Given the description of an element on the screen output the (x, y) to click on. 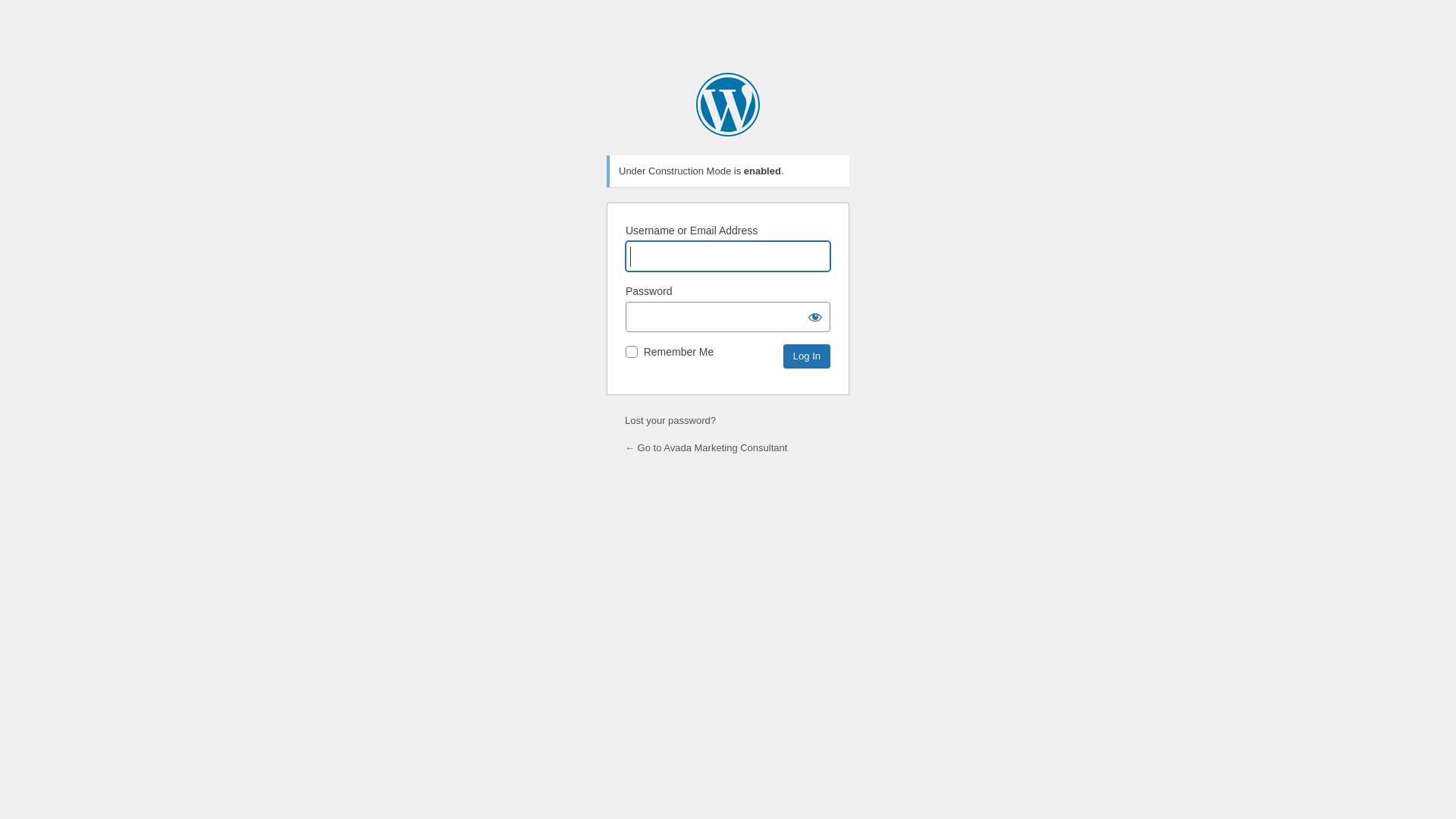
Log In Element type: text (806, 356)
Lost your password? Element type: text (669, 420)
Powered by WordPress Element type: text (727, 104)
